Given the description of an element on the screen output the (x, y) to click on. 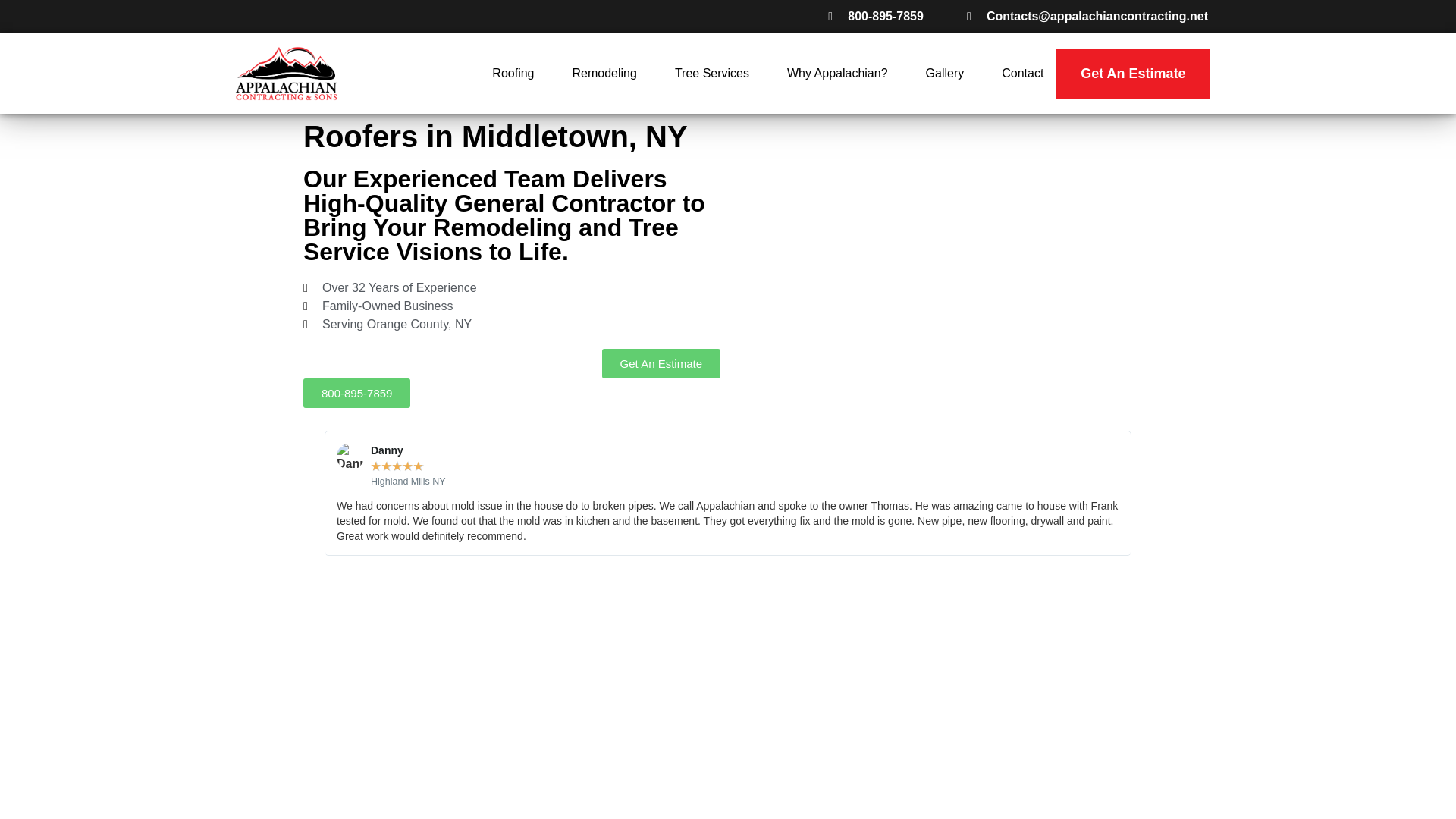
Gallery (944, 73)
Why Appalachian? (837, 73)
Contact (1022, 73)
Remodeling (604, 73)
Roofing (513, 73)
800-895-7859 (872, 16)
Tree Services (712, 73)
